Given the description of an element on the screen output the (x, y) to click on. 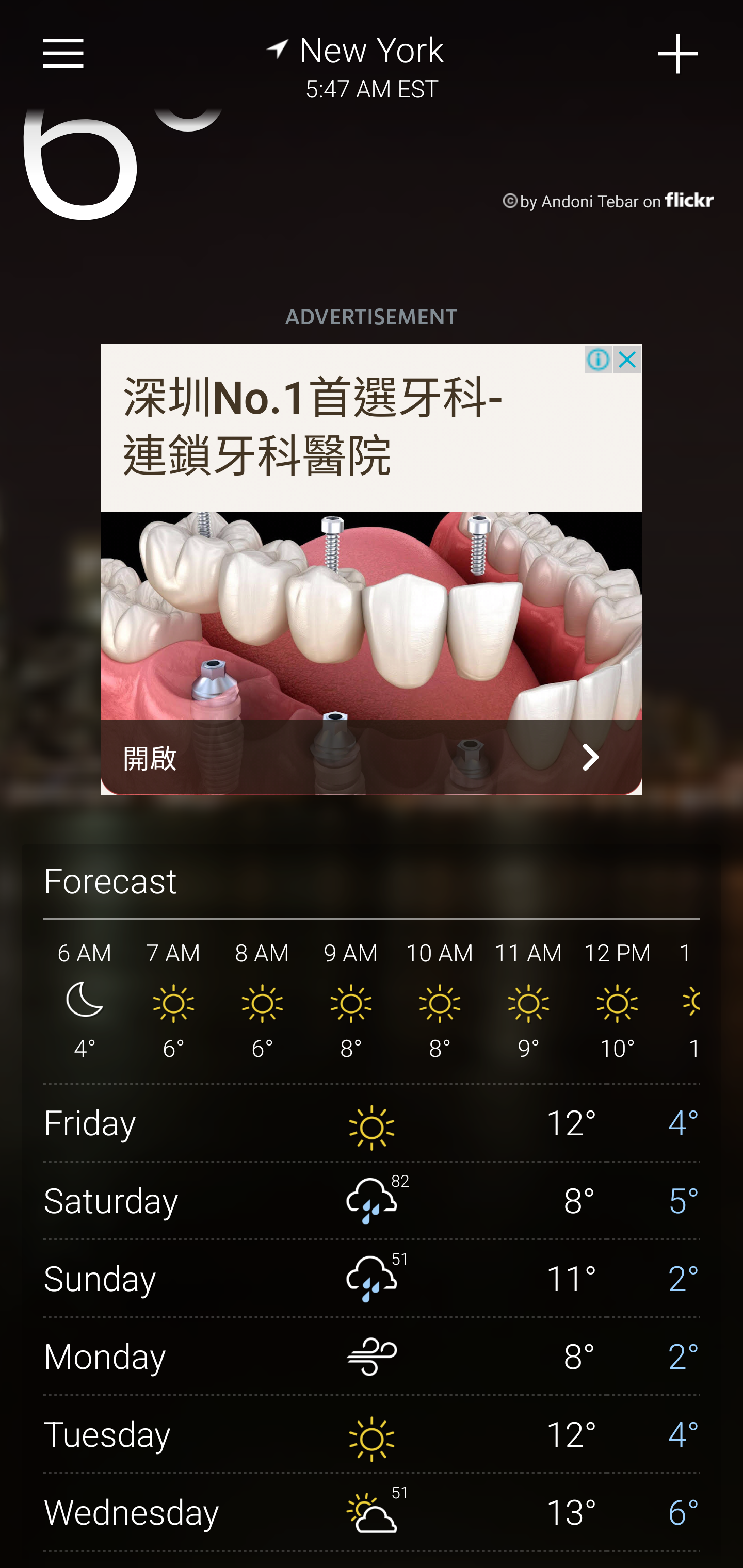
Sidebar (64, 54)
Add City (678, 53)
深圳No.1首選牙科- 連鎖牙科醫院 深圳No.1首選牙科- 
 連鎖牙科醫院 (313, 427)
開啟 (371, 756)
